Given the description of an element on the screen output the (x, y) to click on. 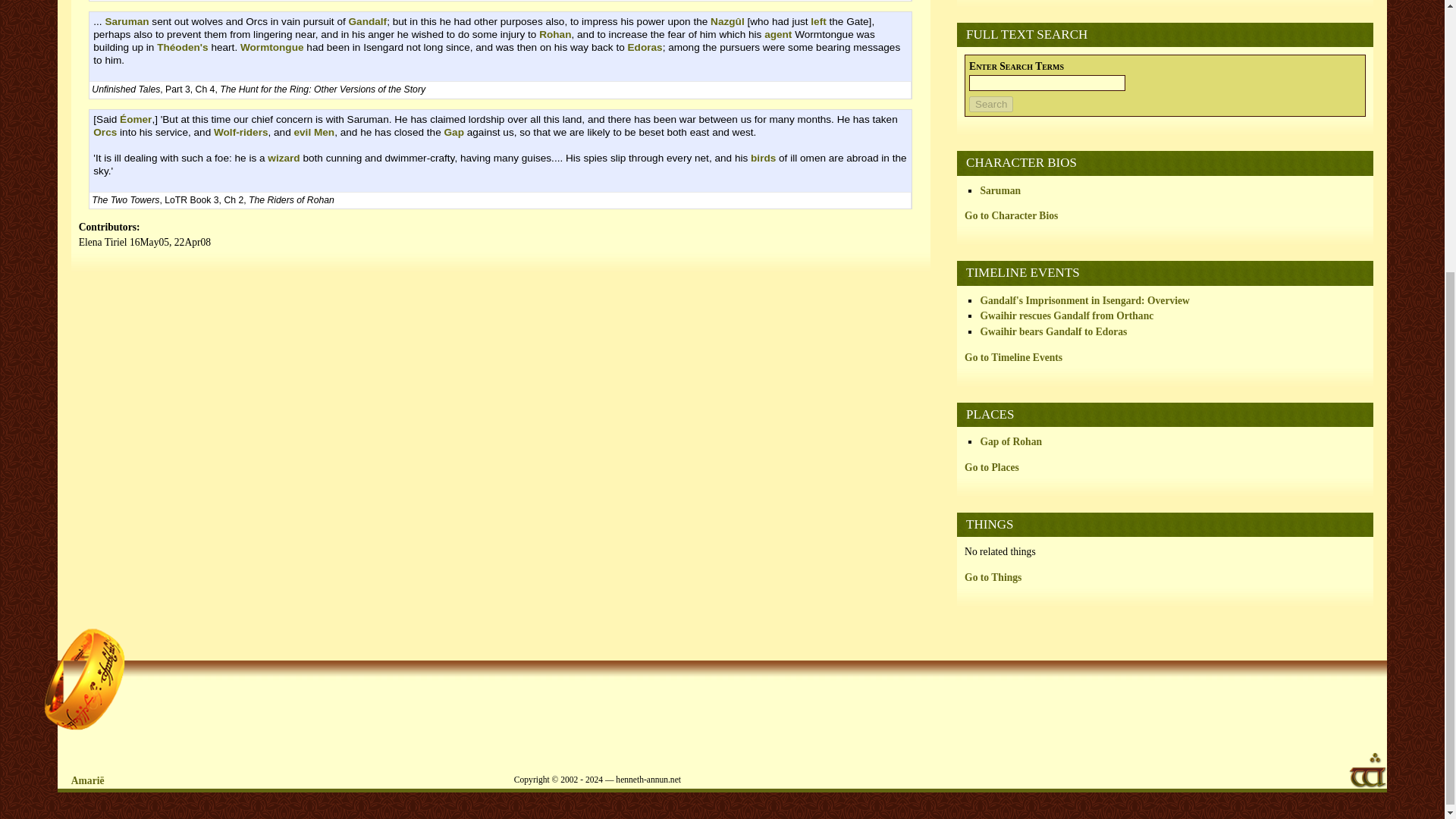
Click to view Gandalf's Imprisonment in Isengard: Overview (1084, 300)
agent (778, 34)
Search (991, 104)
Rohan (554, 34)
birds (763, 157)
Wormtongue (272, 47)
Gap (454, 132)
Click to view Saruman (999, 189)
Click to view Gwaihir bears Gandalf to Edoras (1052, 331)
wizard (283, 157)
